Given the description of an element on the screen output the (x, y) to click on. 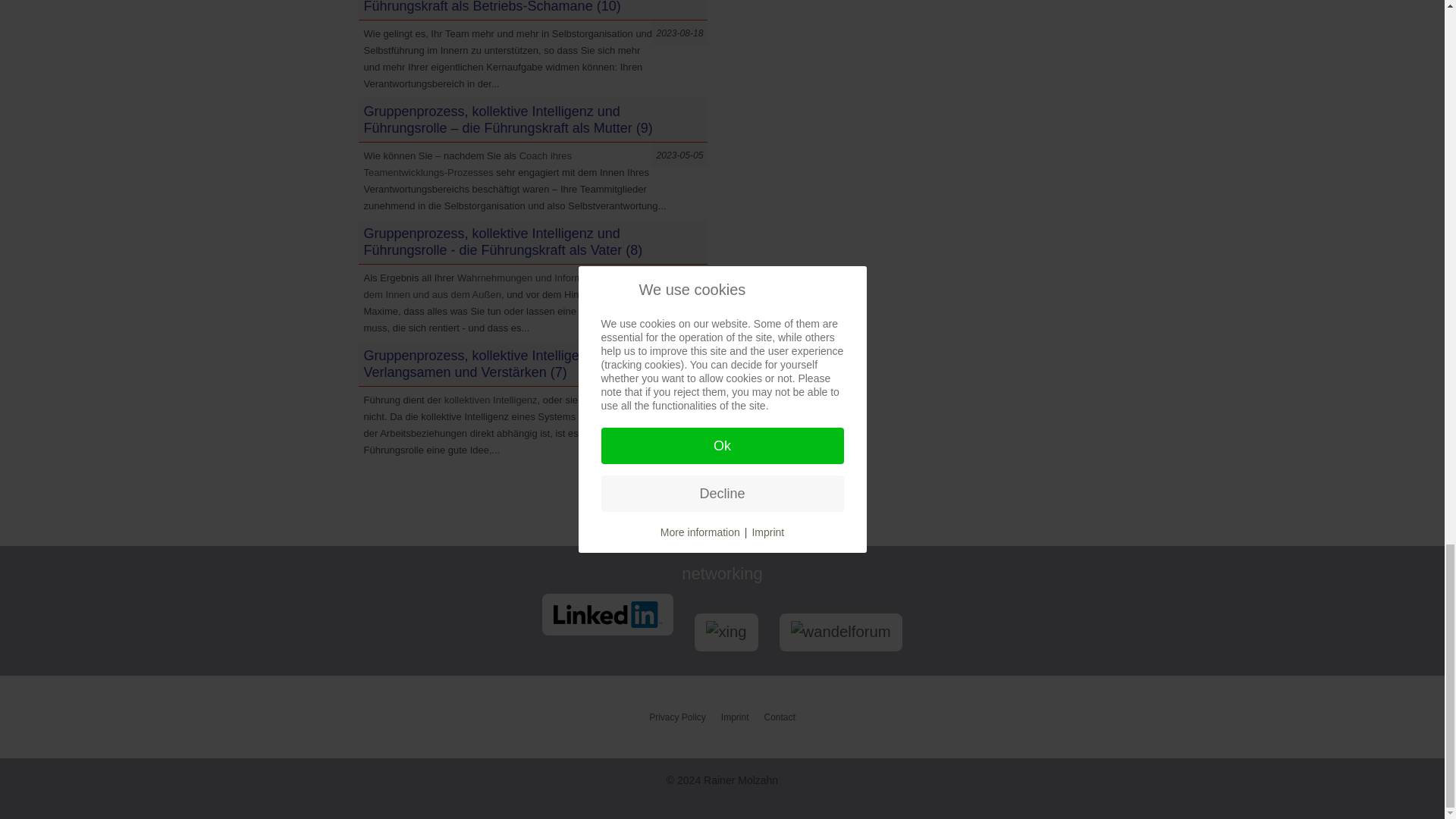
Privacy Policy (677, 716)
kollektiven Intelligenz (490, 399)
Coach ihres Teamentwicklungs-Prozesses (468, 163)
